Given the description of an element on the screen output the (x, y) to click on. 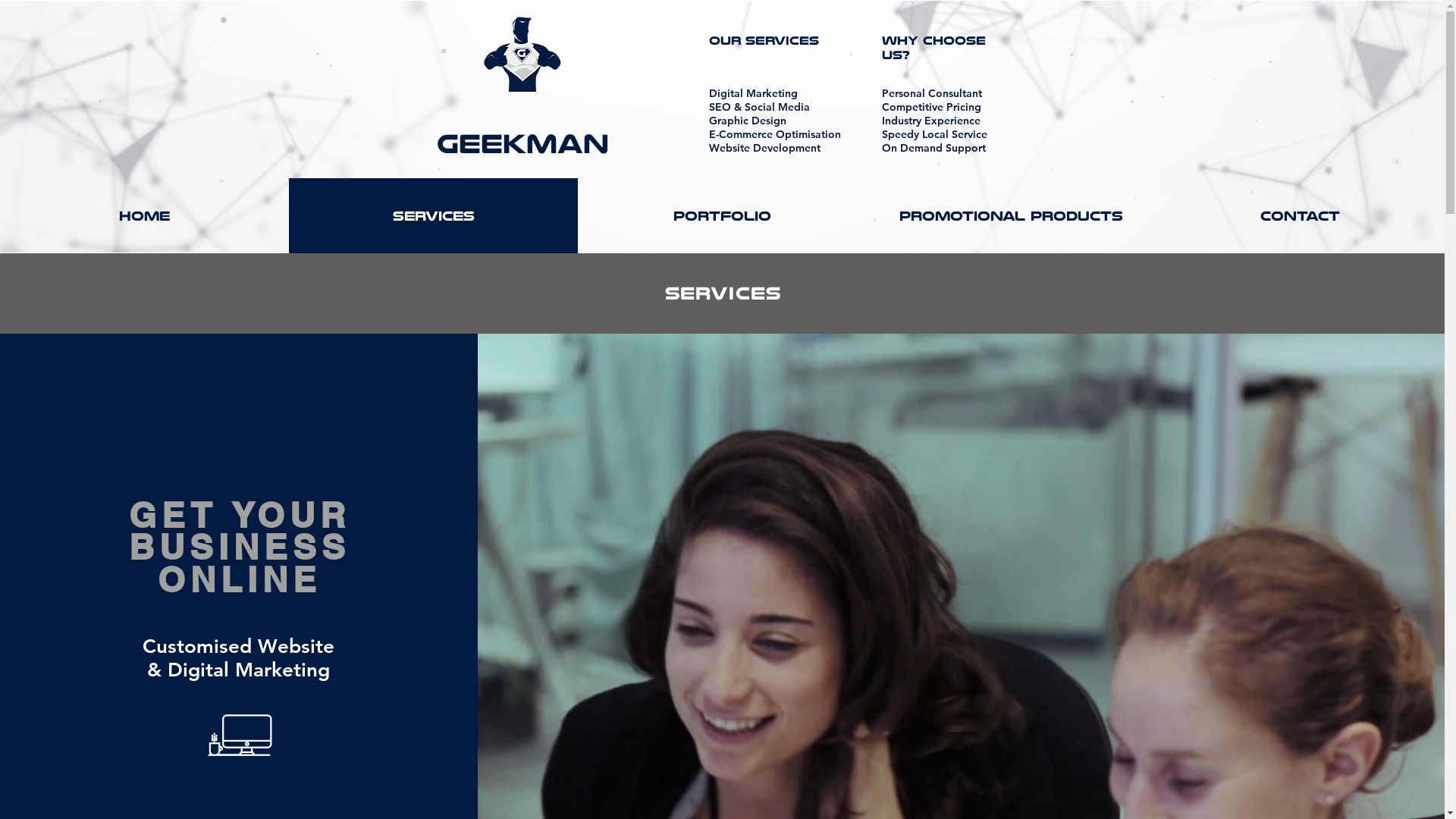
Portfolio Element type: text (721, 216)
Personal Consultant Element type: text (931, 93)
Home Element type: text (144, 216)
Promotional Products Element type: text (1010, 216)
GeekMan Element type: text (522, 143)
Contact Element type: text (1299, 216)
Digital Marketing Element type: text (752, 93)
Services Element type: text (432, 216)
